Given the description of an element on the screen output the (x, y) to click on. 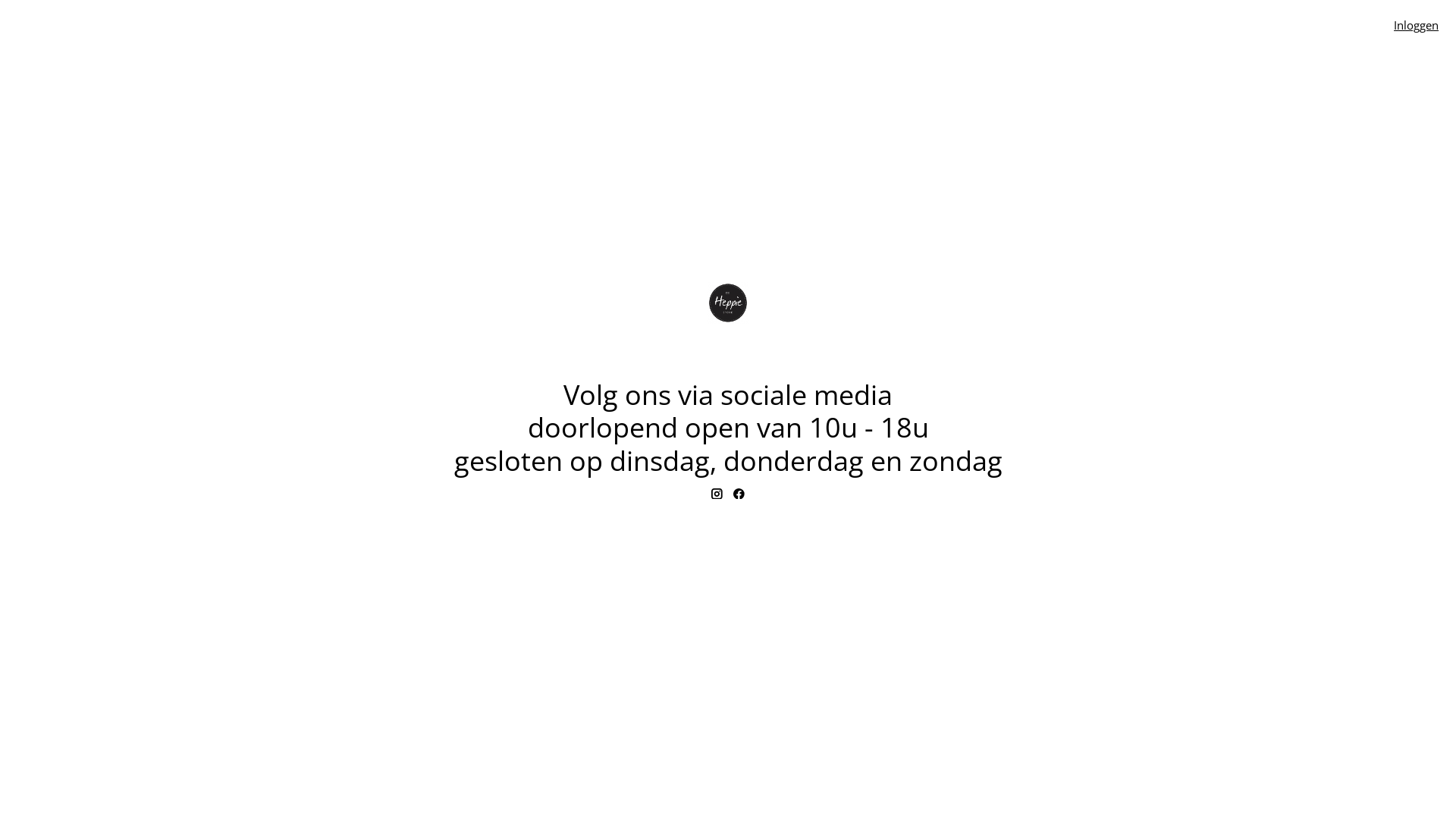
De Heppie Store Element type: hover (727, 302)
Inloggen Element type: text (1415, 24)
